Given the description of an element on the screen output the (x, y) to click on. 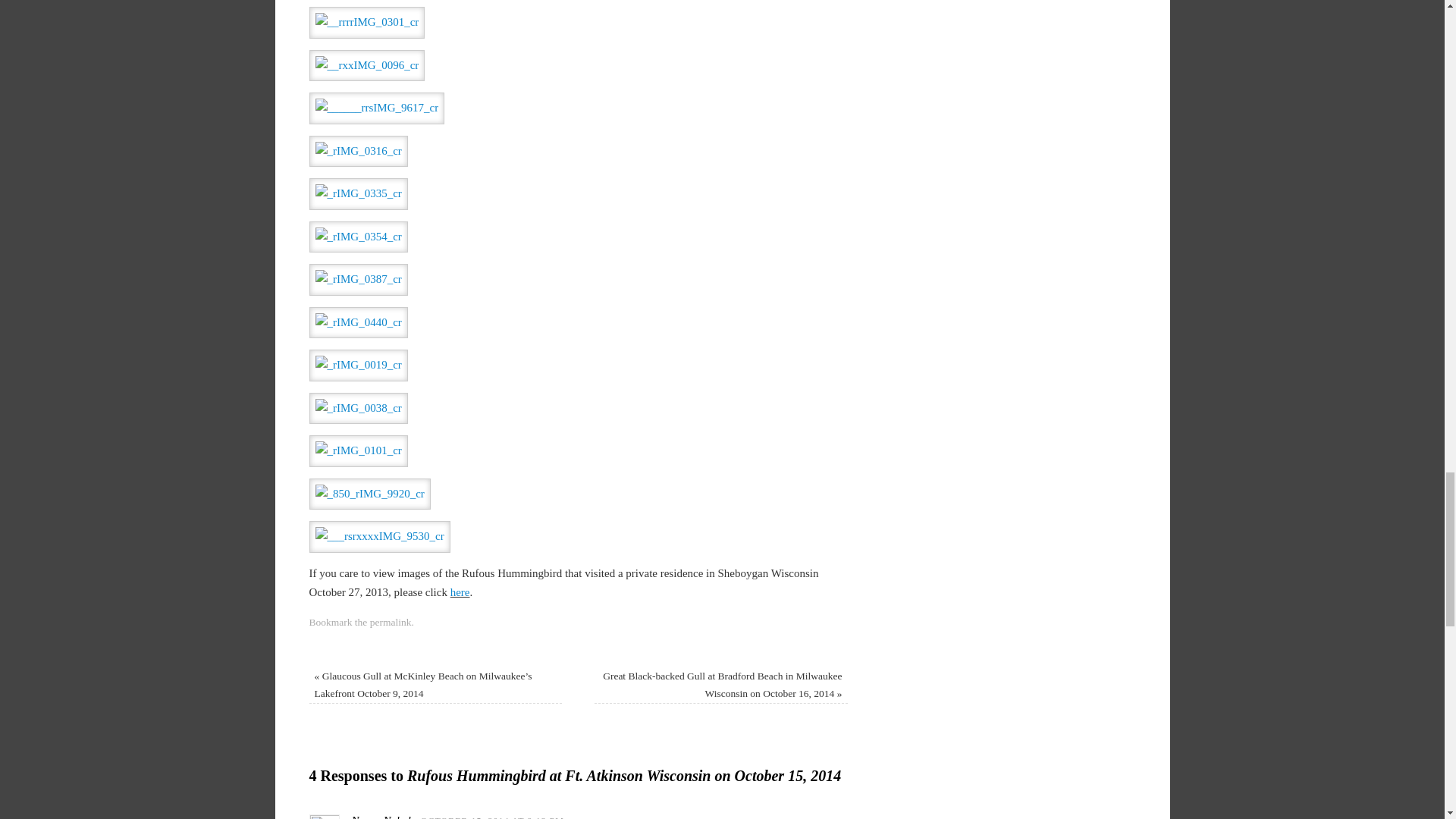
OCTOBER 15, 2014 AT 8:13 PM (492, 817)
permalink (390, 622)
here (459, 592)
